Given the description of an element on the screen output the (x, y) to click on. 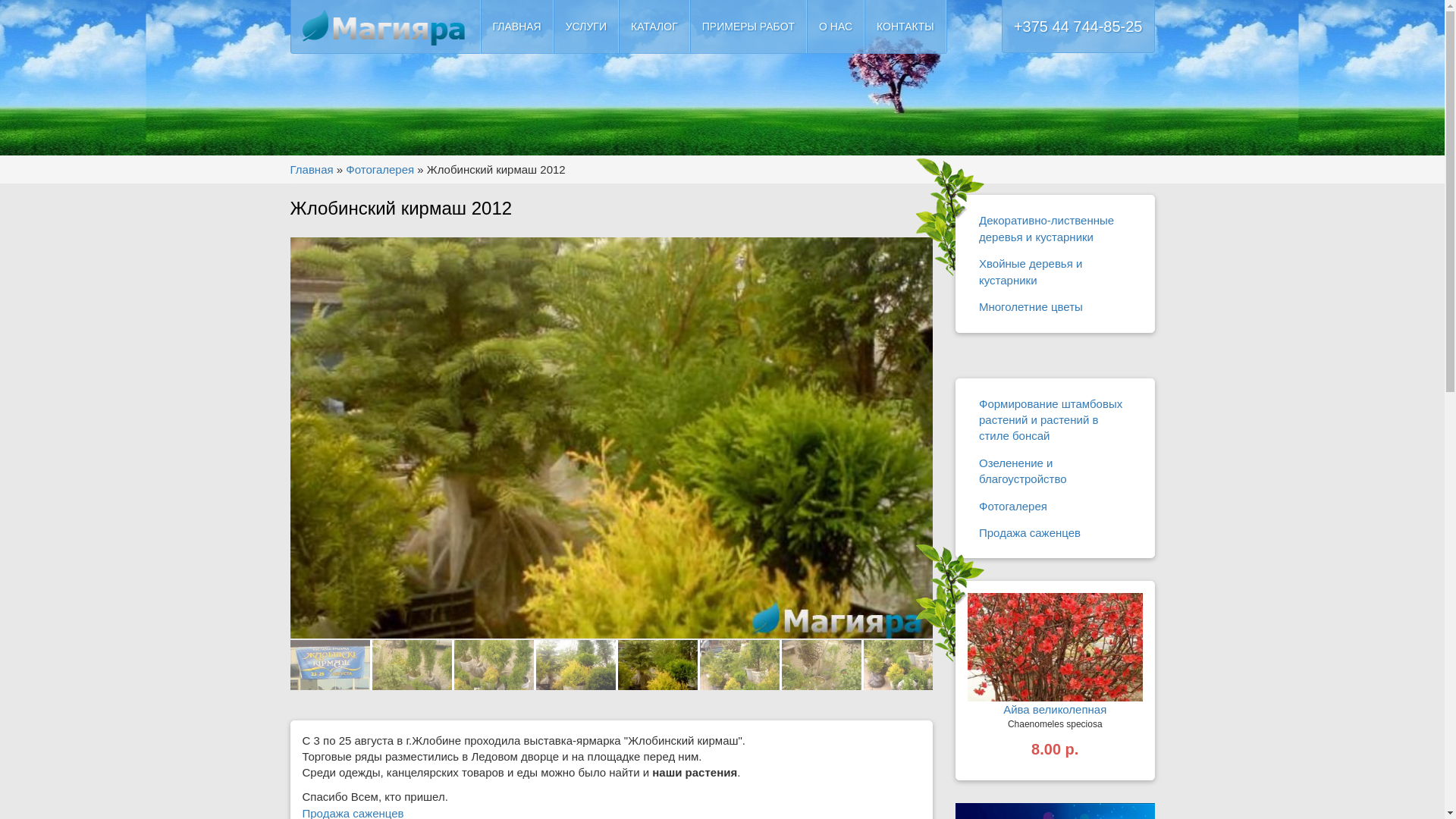
+375 44 744-85-25 Element type: text (1077, 26)
